Given the description of an element on the screen output the (x, y) to click on. 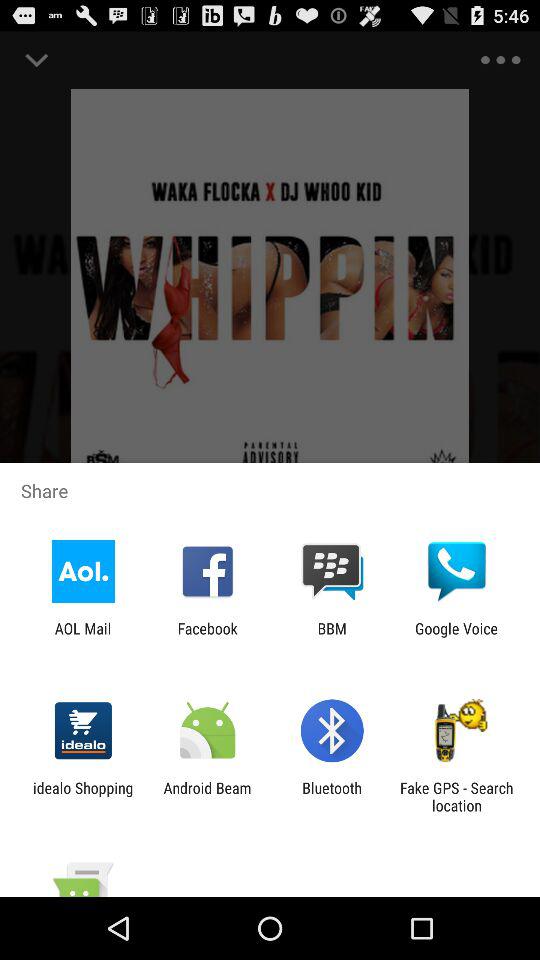
flip until bbm item (331, 637)
